Given the description of an element on the screen output the (x, y) to click on. 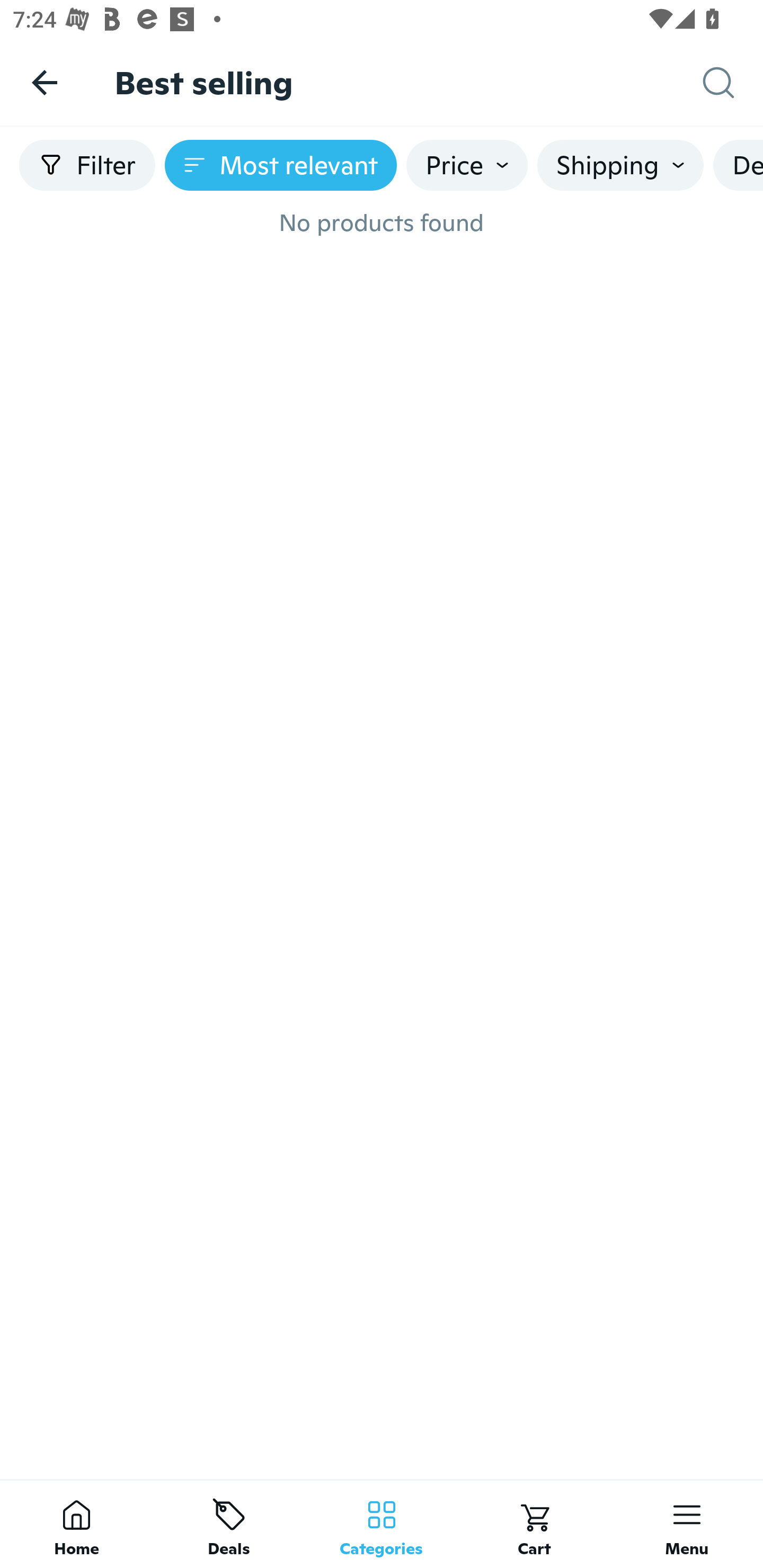
Navigate up (44, 82)
Search (732, 82)
Filter (86, 165)
Most relevant (280, 165)
Price (466, 165)
Shipping (620, 165)
Home (76, 1523)
Deals (228, 1523)
Categories (381, 1523)
Cart (533, 1523)
Menu (686, 1523)
